Given the description of an element on the screen output the (x, y) to click on. 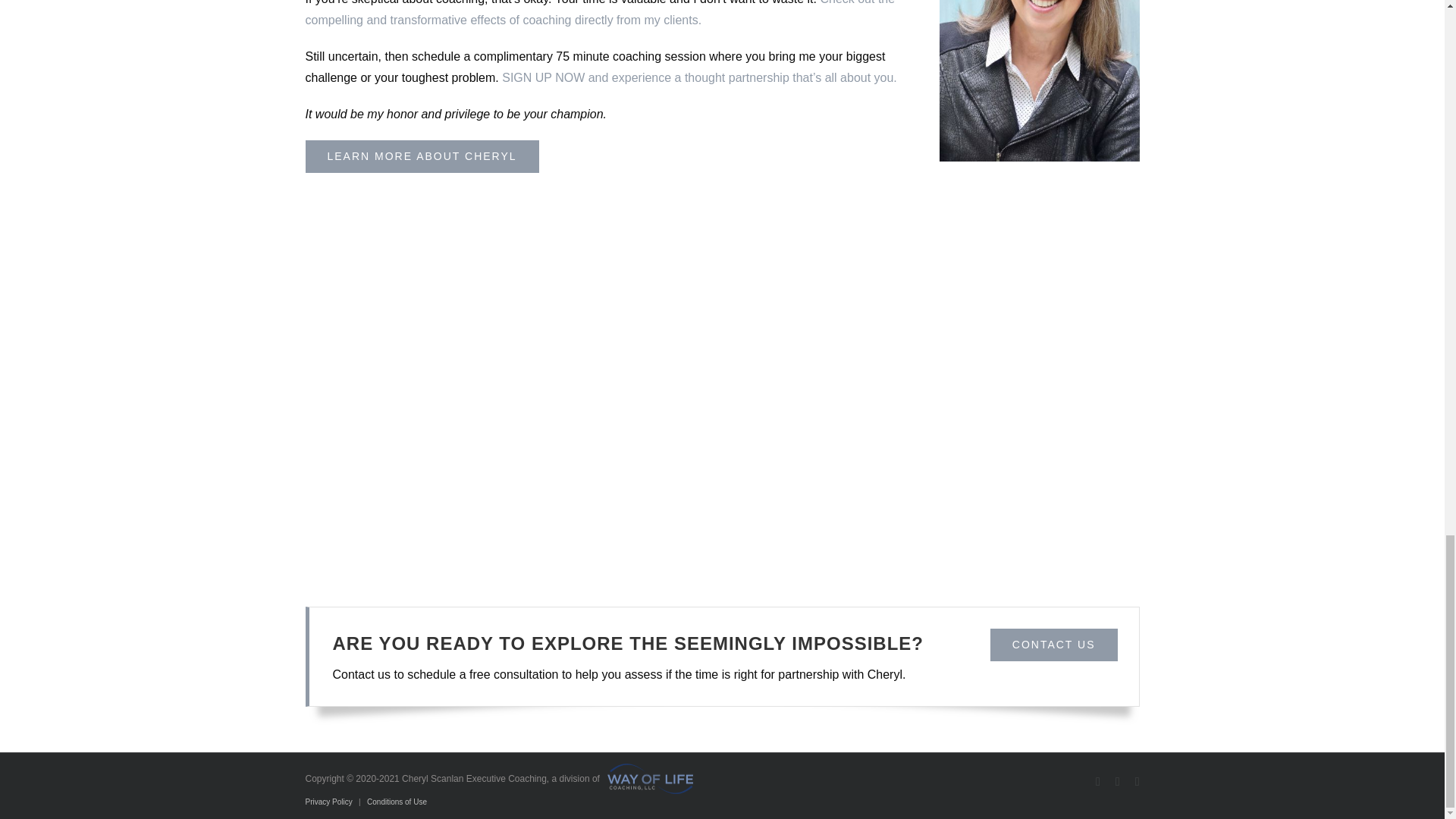
Privacy Policy (328, 801)
Conditions of Use (396, 801)
CONTACT US (1054, 644)
LEARN MORE ABOUT CHERYL (421, 156)
cheryl-scanlan (1038, 80)
